Given the description of an element on the screen output the (x, y) to click on. 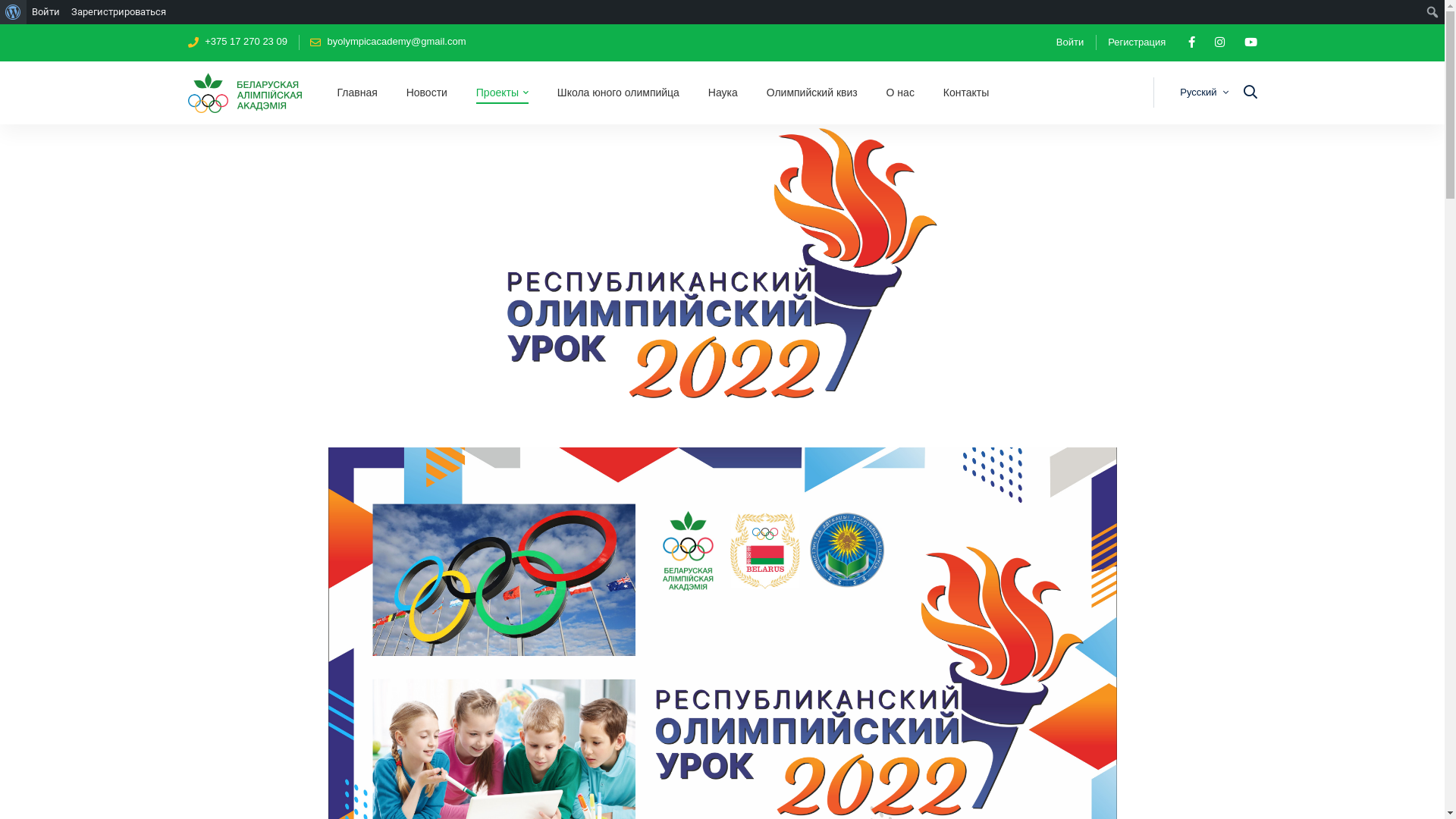
byolympicacademy@gmail.com Element type: text (388, 41)
+375 17 270 23 09 Element type: text (237, 41)
